Given the description of an element on the screen output the (x, y) to click on. 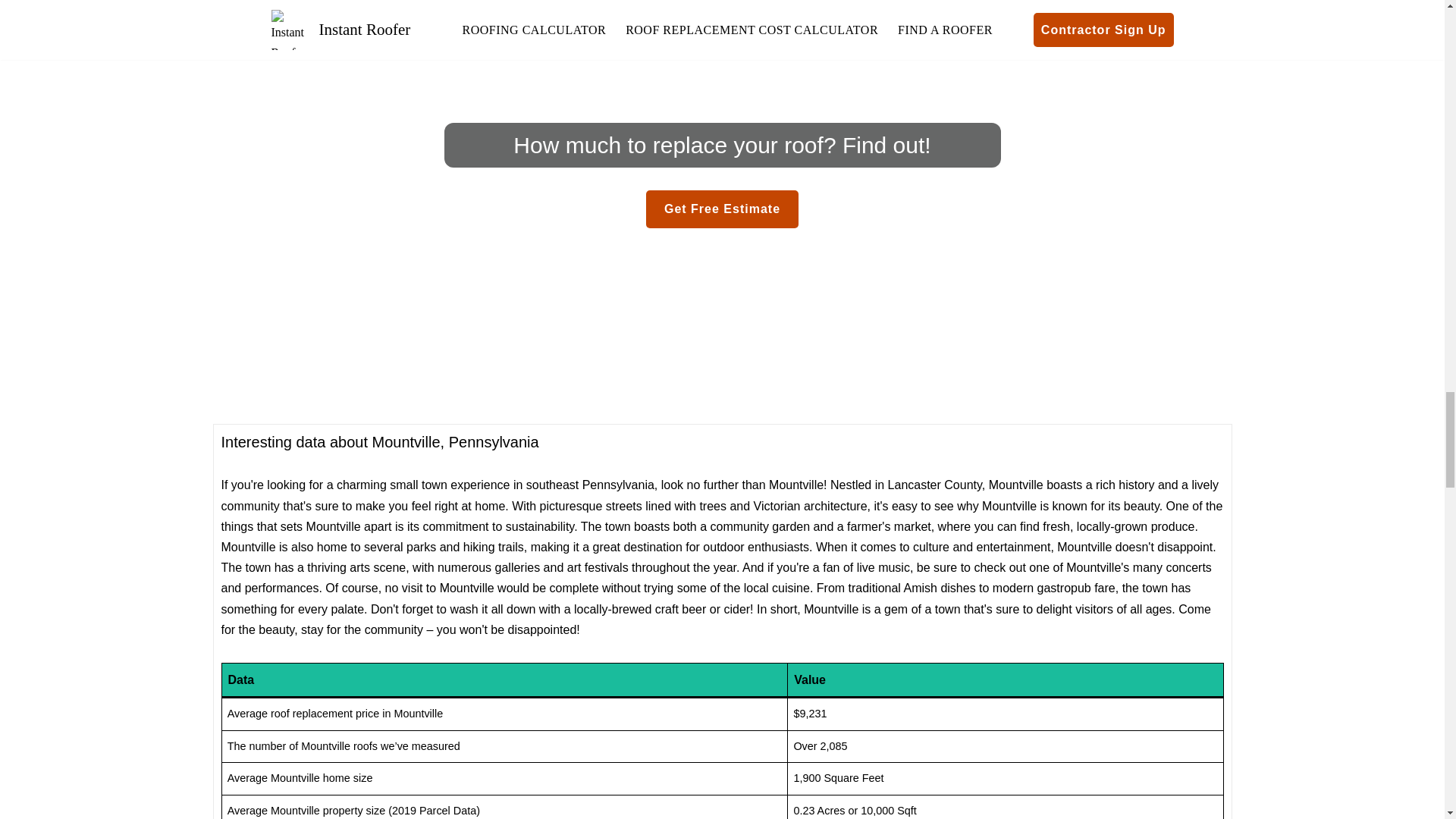
Get Free Estimate (721, 209)
